Given the description of an element on the screen output the (x, y) to click on. 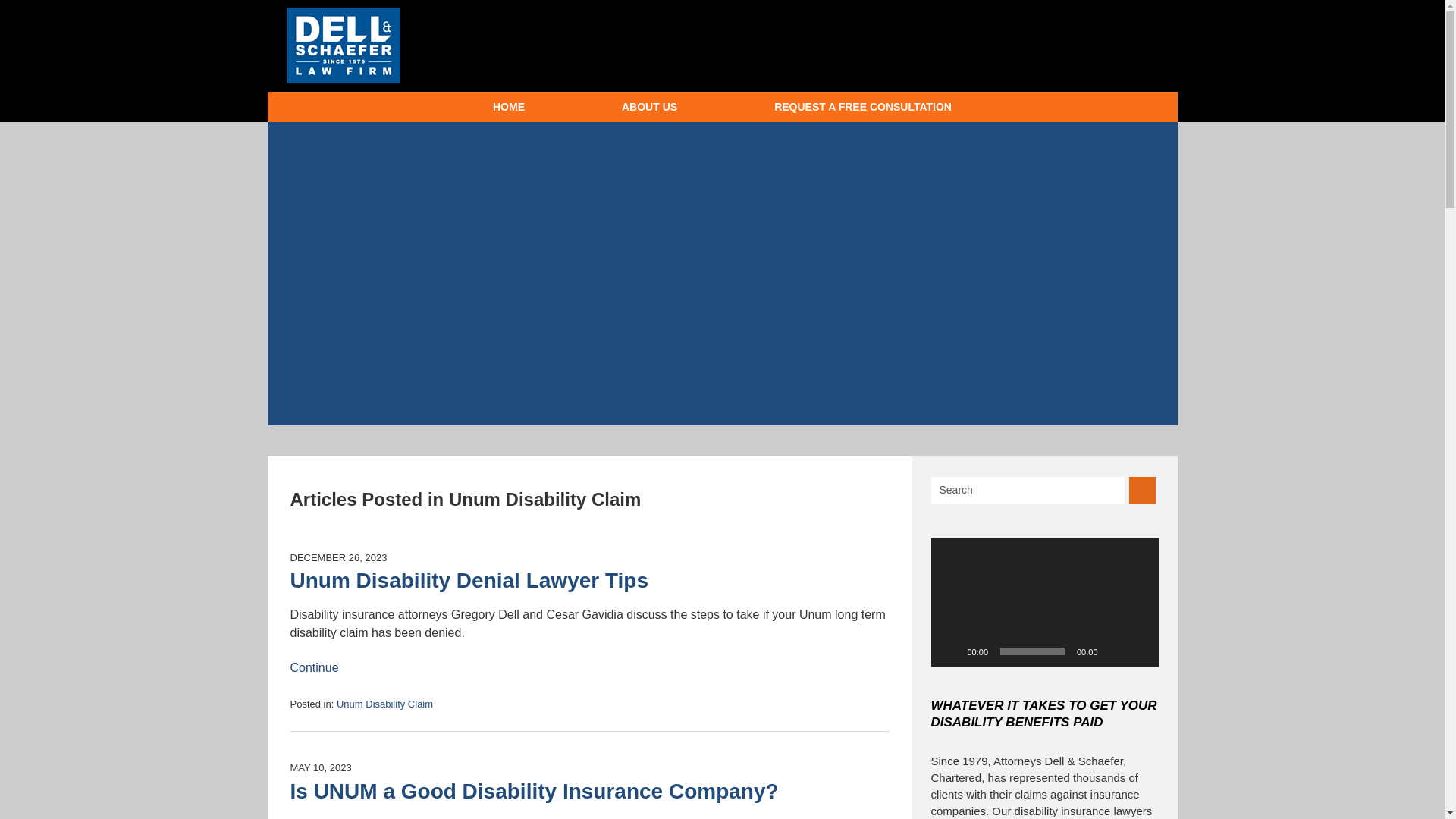
Unum Disability Claim (384, 704)
HOME (508, 106)
Permalink to Unum Disability Denial Lawyer Tips (468, 580)
ABOUT US (649, 106)
Speak With A Disability Lawyer Now: CALL 888-699-9438 (989, 44)
REQUEST A FREE CONSULTATION (862, 106)
Continue (313, 667)
Unum Disability Denial Lawyer Tips (468, 580)
View all posts in Unum Disability Claim (384, 704)
Continue Reading Unum Disability Denial Lawyer Tips (313, 667)
